Given the description of an element on the screen output the (x, y) to click on. 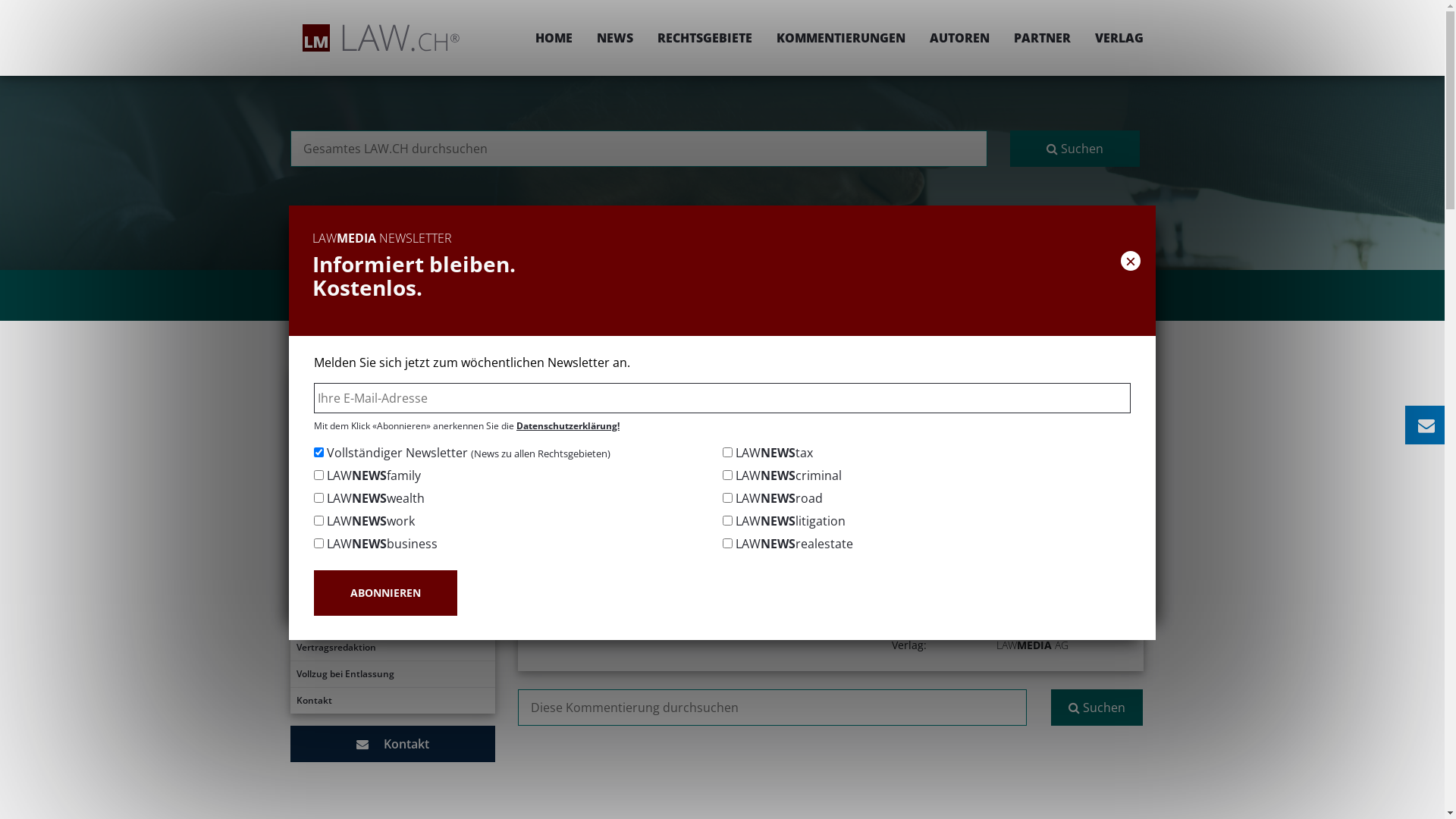
Rechtsgebiete Element type: text (697, 375)
Begriffe Element type: text (391, 434)
 DRUCKEN / PDF Element type: text (1096, 426)
Werke der Literatur und Kunst und deren Darbietung Element type: text (391, 587)
Skip to content Element type: text (1443, 0)
RECHTSGEBIETE Element type: text (703, 37)
Vollzug bei Entlassung Element type: text (391, 674)
VERLAG Element type: text (1112, 37)
Inhaltsverzeichnis Element type: text (391, 407)
    Kontakt Element type: text (391, 743)
Computerprogramme Element type: text (391, 620)
Vertragsredaktion Element type: text (391, 647)
Kontakt Element type: text (391, 700)
Erfindung und Designs Element type: text (391, 554)
PARTNER Element type: text (1041, 37)
KOMMENTIERUNGEN Element type: text (840, 37)
ABONNIEREN Element type: text (385, 592)
Home Element type: text (628, 375)
Suchen nach: Element type: hover (771, 707)
AUTOREN Element type: text (959, 37)
Einleitung zur Arbeitnehmererfindung Element type: text (391, 381)
Zuordnung Element type: text (391, 527)
NEWS Element type: text (613, 37)
 TEILEN Element type: text (991, 426)
Grundlagen Element type: text (391, 460)
Suchen nach: Element type: hover (637, 148)
HOME Element type: text (553, 37)
